Given the description of an element on the screen output the (x, y) to click on. 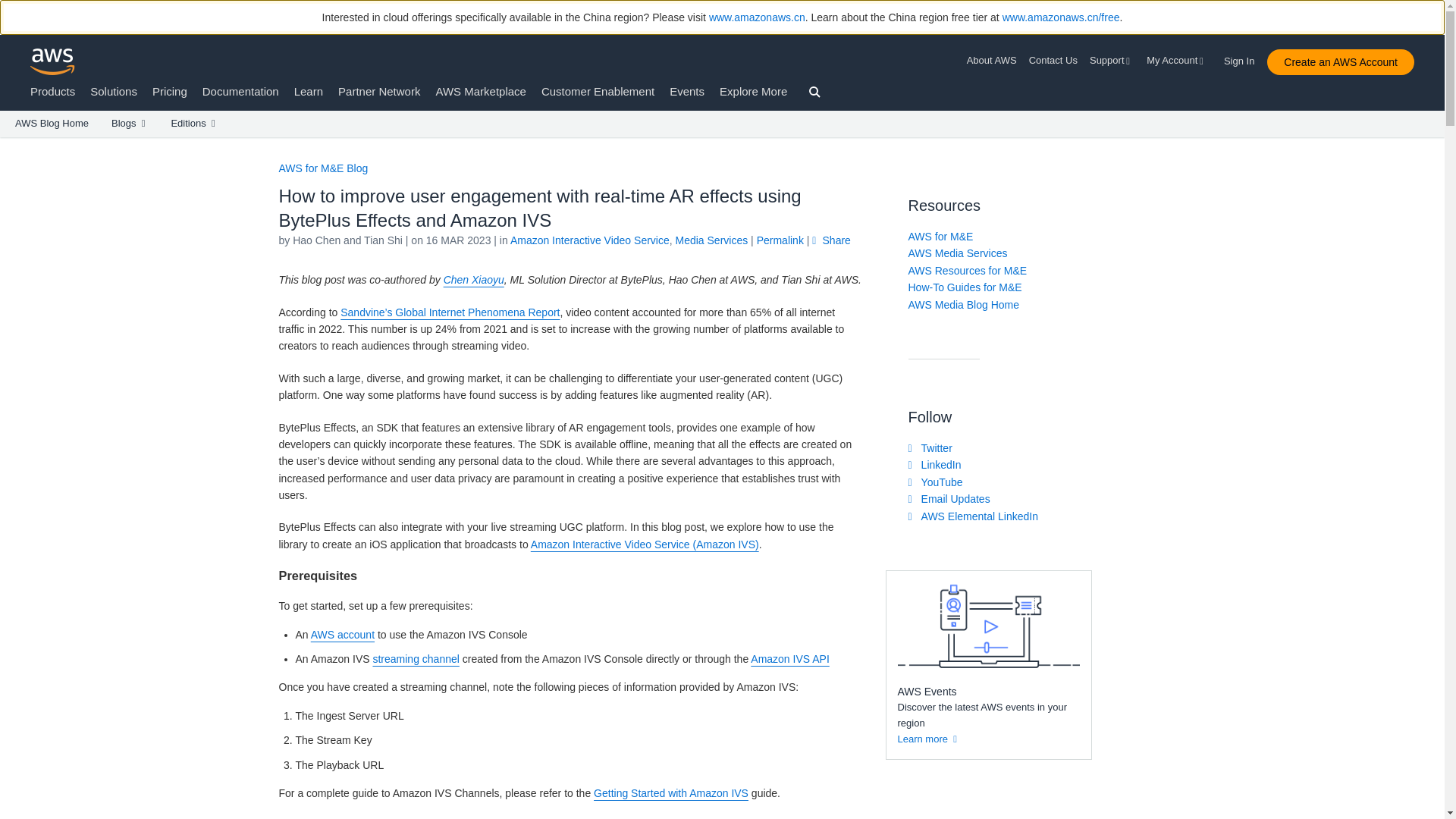
Events (686, 91)
Pricing (169, 91)
Support  (1111, 60)
Contact Us (1053, 60)
www.amazonaws.cn (757, 17)
View all posts in Media Services (711, 240)
About AWS (994, 60)
Sign In (1243, 58)
Learn (308, 91)
AWS Marketplace (480, 91)
